Given the description of an element on the screen output the (x, y) to click on. 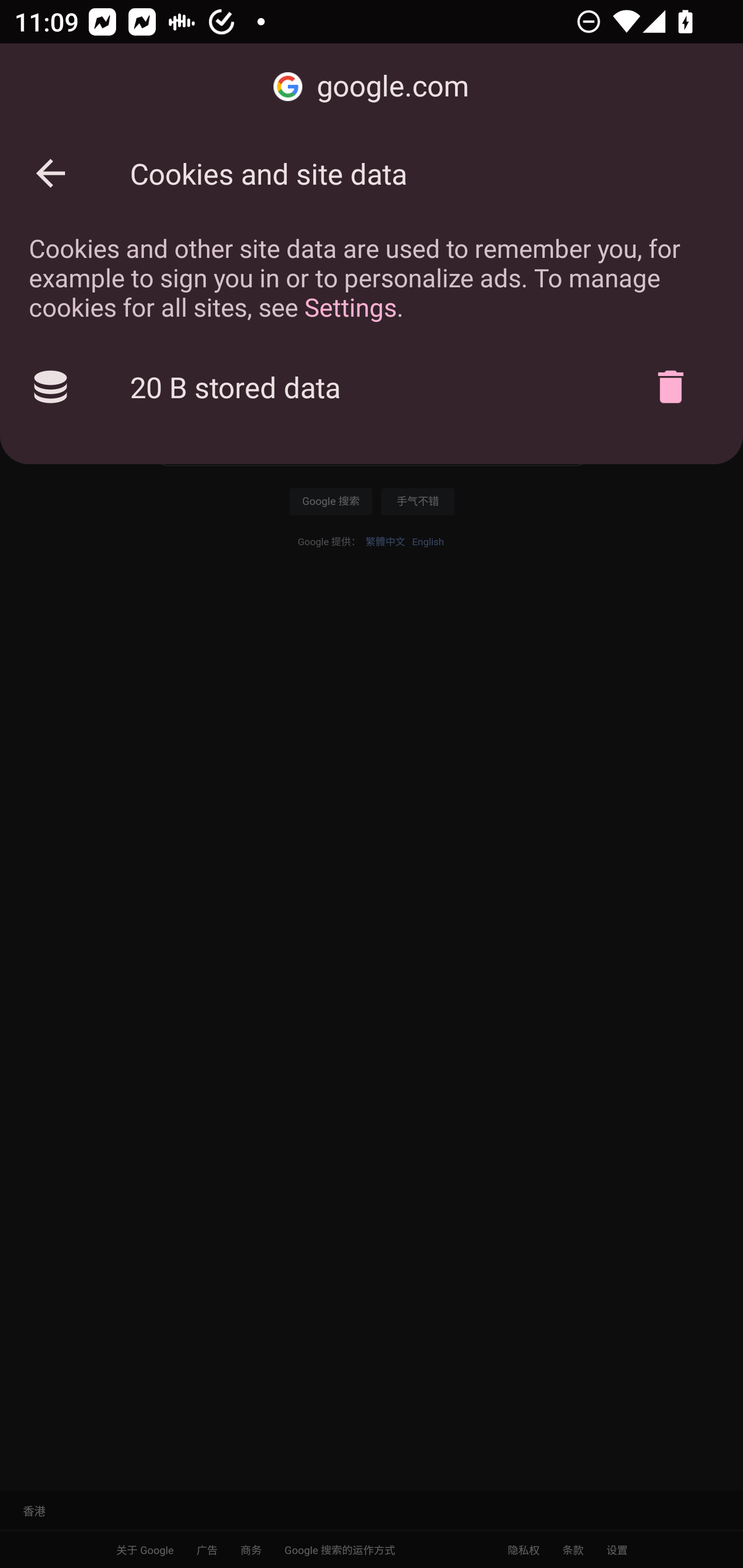
google.com (371, 86)
Back (50, 173)
20 B stored data Delete cookies? (371, 386)
